Given the description of an element on the screen output the (x, y) to click on. 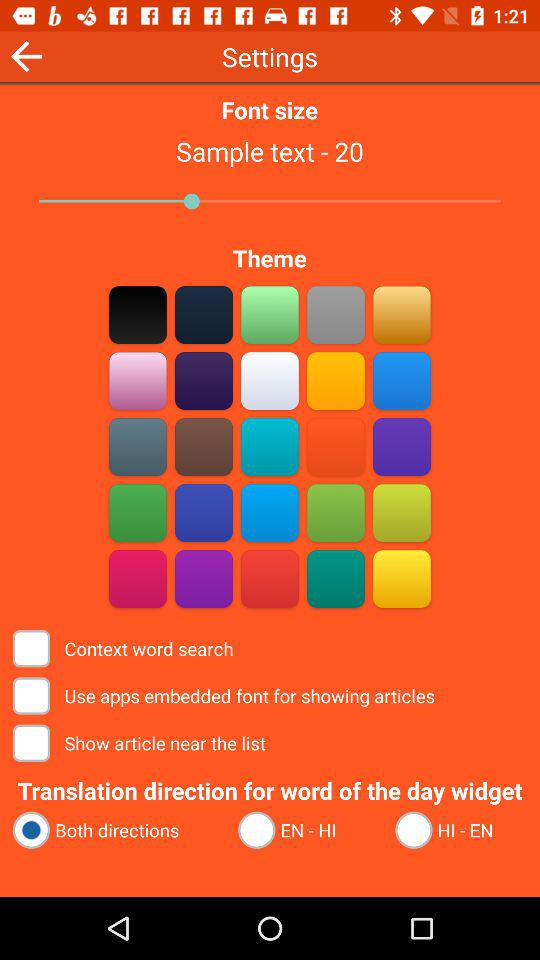
press item below translation direction for item (116, 829)
